Given the description of an element on the screen output the (x, y) to click on. 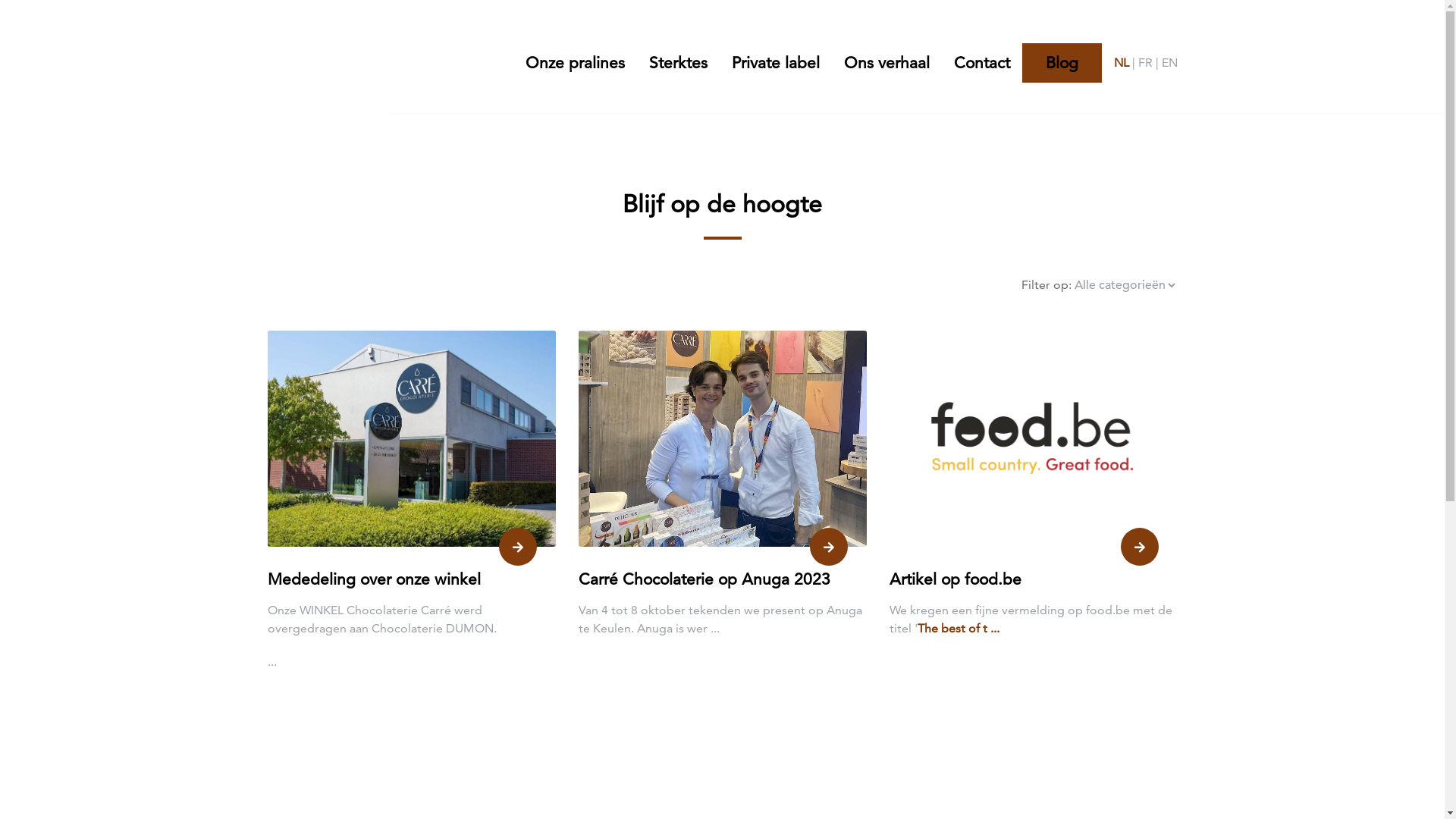
EN Element type: text (1169, 62)
FR| Element type: text (1149, 62)
NL| Element type: text (1125, 62)
Onze pralines Element type: text (580, 62)
Sterktes Element type: text (678, 62)
Private label Element type: text (774, 62)
Contact Element type: text (981, 62)
Blog Element type: text (1060, 62)
Ons verhaal Element type: text (886, 62)
